Given the description of an element on the screen output the (x, y) to click on. 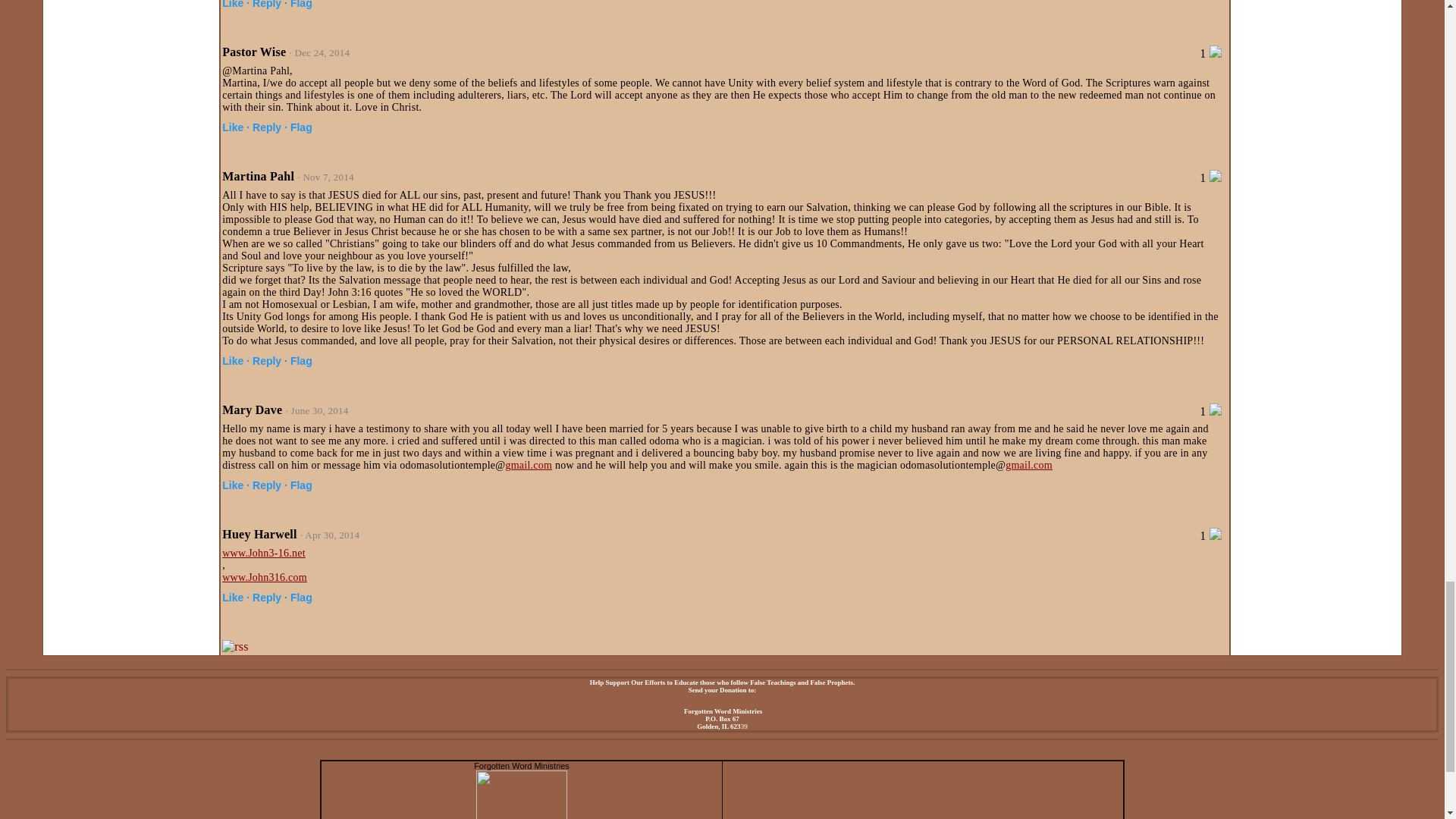
Forgotten Word Ministries (521, 765)
